Given the description of an element on the screen output the (x, y) to click on. 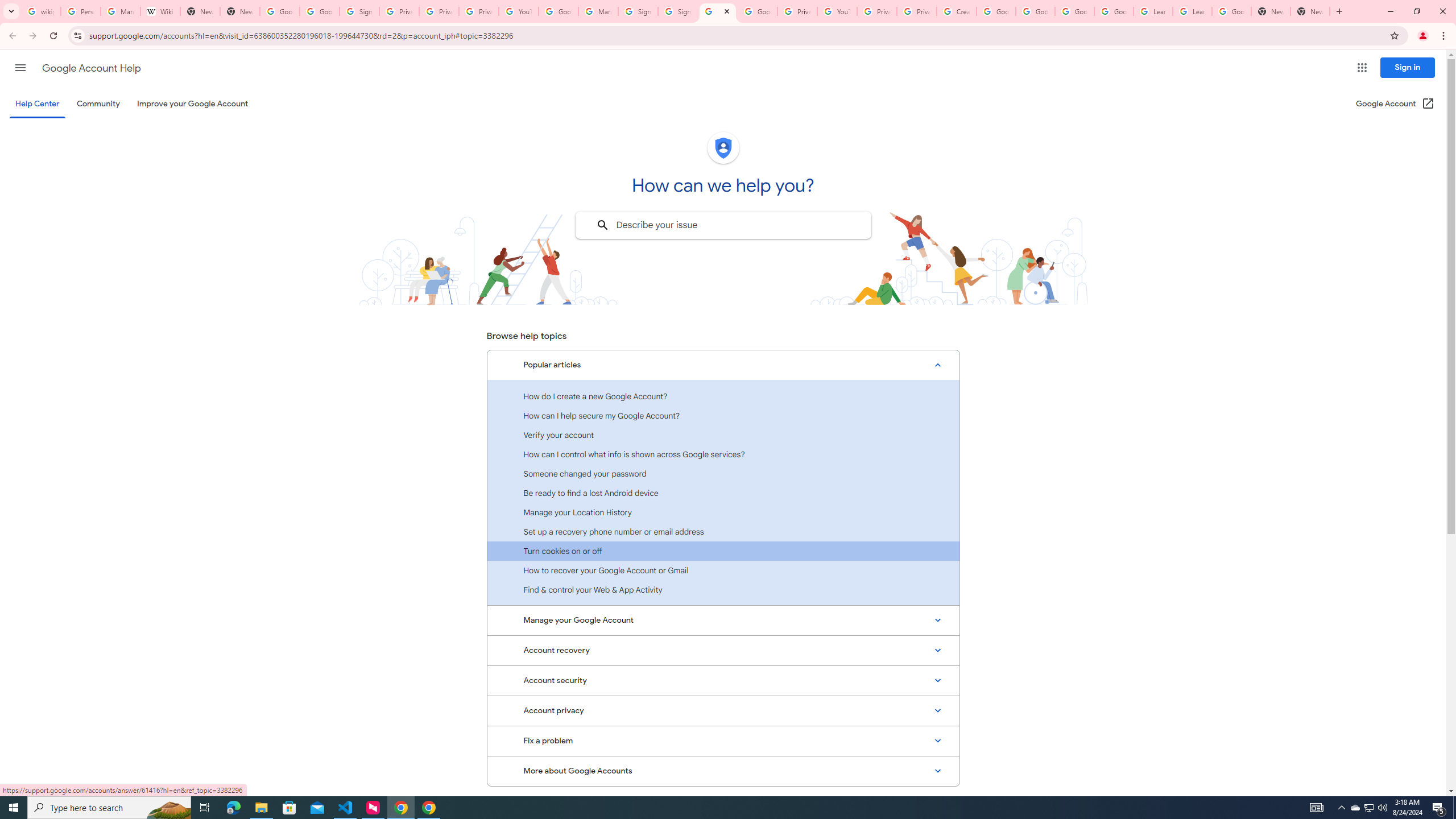
How to recover your Google Account or Gmail (722, 570)
YouTube (836, 11)
How do I create a new Google Account? (722, 396)
How can I help secure my Google Account? (722, 415)
Google Account Help (995, 11)
Manage your Google Account (722, 620)
Google Account Help (91, 68)
Manage your Location History (722, 512)
Improve your Google Account (192, 103)
Account recovery (722, 650)
Be ready to find a lost Android device (722, 492)
